Given the description of an element on the screen output the (x, y) to click on. 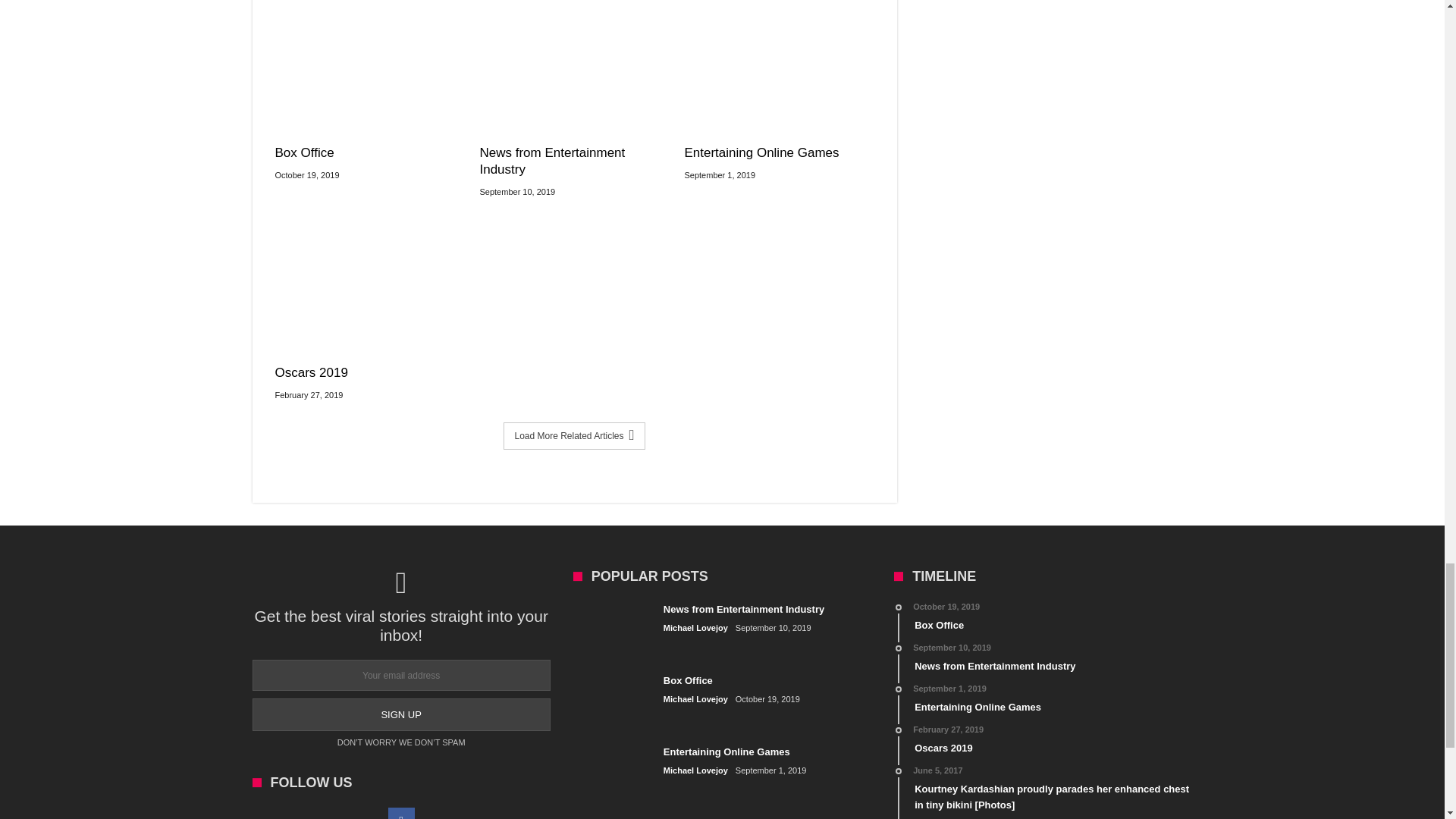
Posts by Michael Lovejoy (695, 770)
Facebook (401, 813)
Sign up (400, 714)
Posts by Michael Lovejoy (695, 699)
Posts by Michael Lovejoy (695, 627)
